Given the description of an element on the screen output the (x, y) to click on. 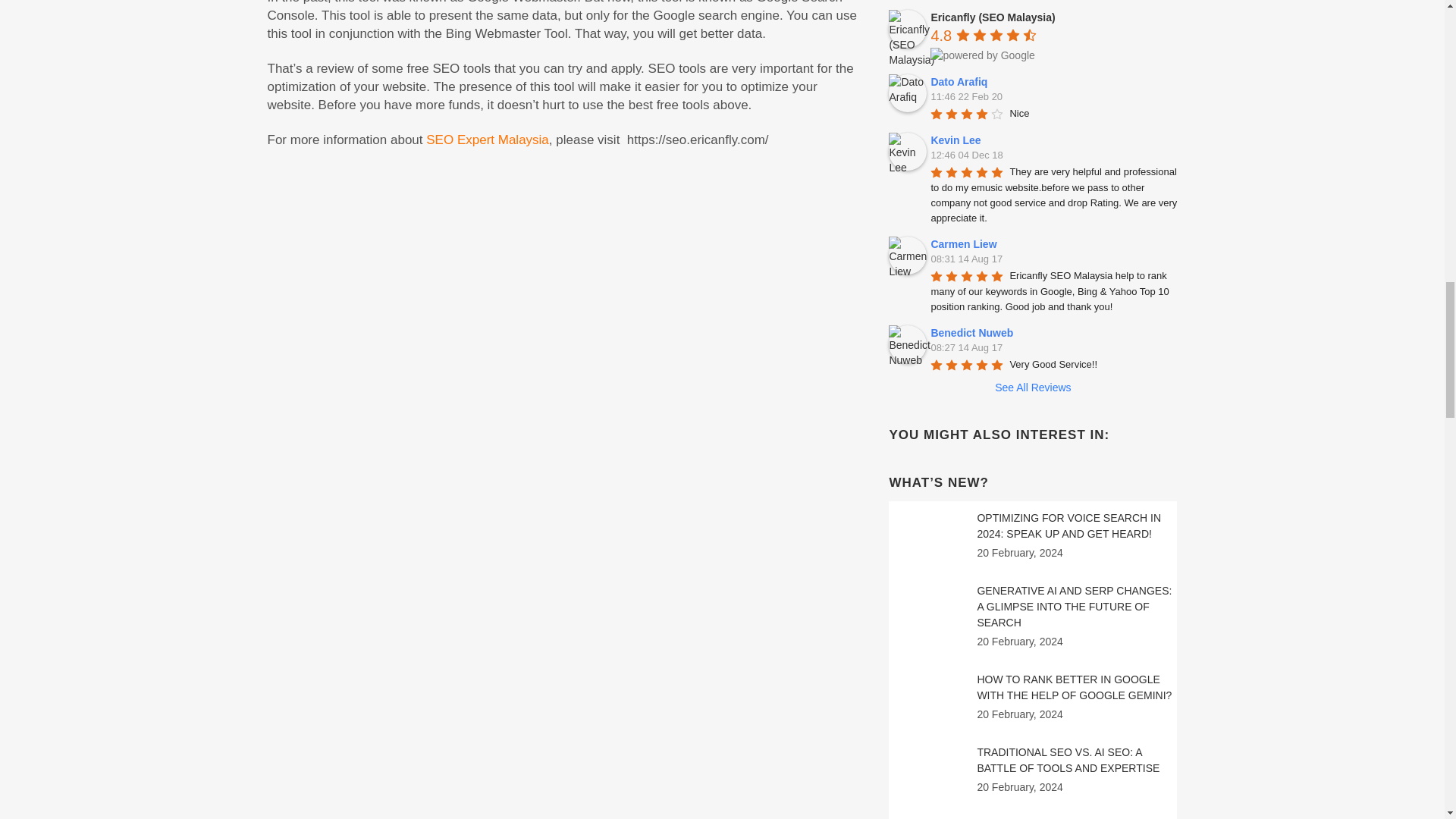
Carmen Liew (907, 255)
Kevin Lee (907, 151)
Dato Arafiq (907, 93)
Benedict Nuweb (907, 344)
powered by Google (981, 55)
SEO Expert Malaysia (487, 139)
